Given the description of an element on the screen output the (x, y) to click on. 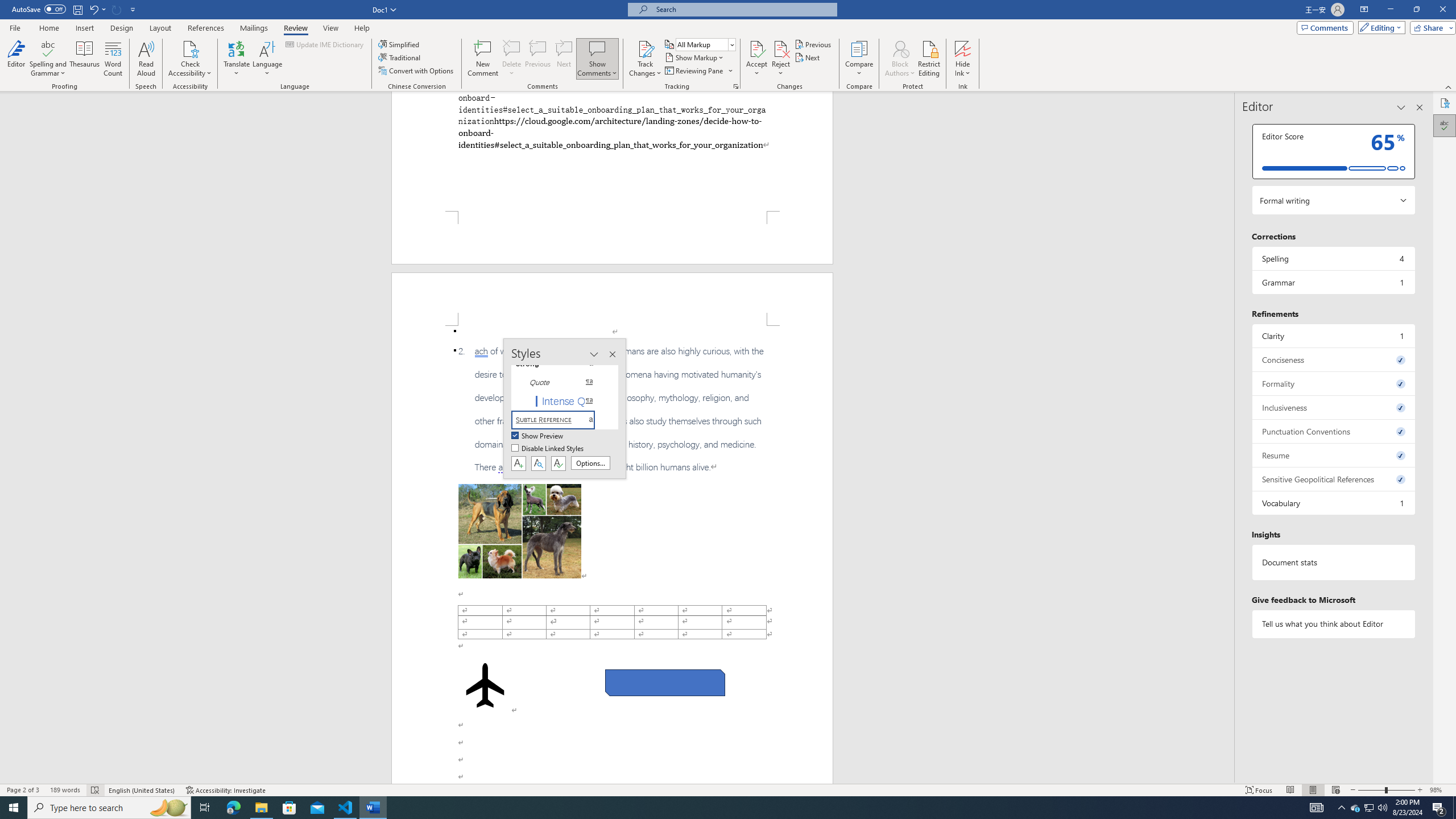
Page 1 content (611, 151)
Hide Ink (962, 58)
Tell us what you think about Editor (1333, 624)
Reviewing Pane (694, 69)
Translate (236, 58)
Strong (559, 363)
Spelling and Grammar (48, 58)
Check Accessibility (189, 48)
